Given the description of an element on the screen output the (x, y) to click on. 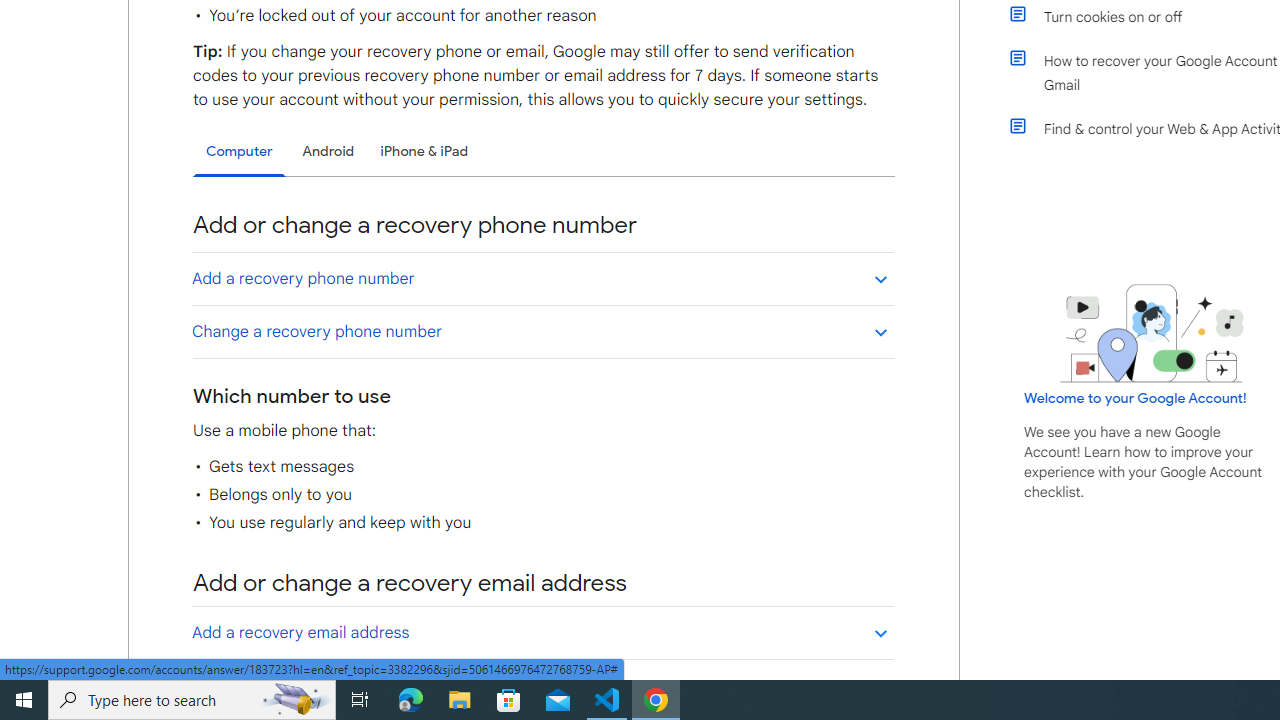
Change a recovery phone number (542, 331)
Computer (239, 152)
Add a recovery email address (542, 632)
Welcome to your Google Account! (1135, 397)
Learning Center home page image (1152, 333)
Android (328, 151)
Add a recovery phone number (542, 278)
iPhone & iPad (424, 151)
Change a recovery email address (542, 685)
